Given the description of an element on the screen output the (x, y) to click on. 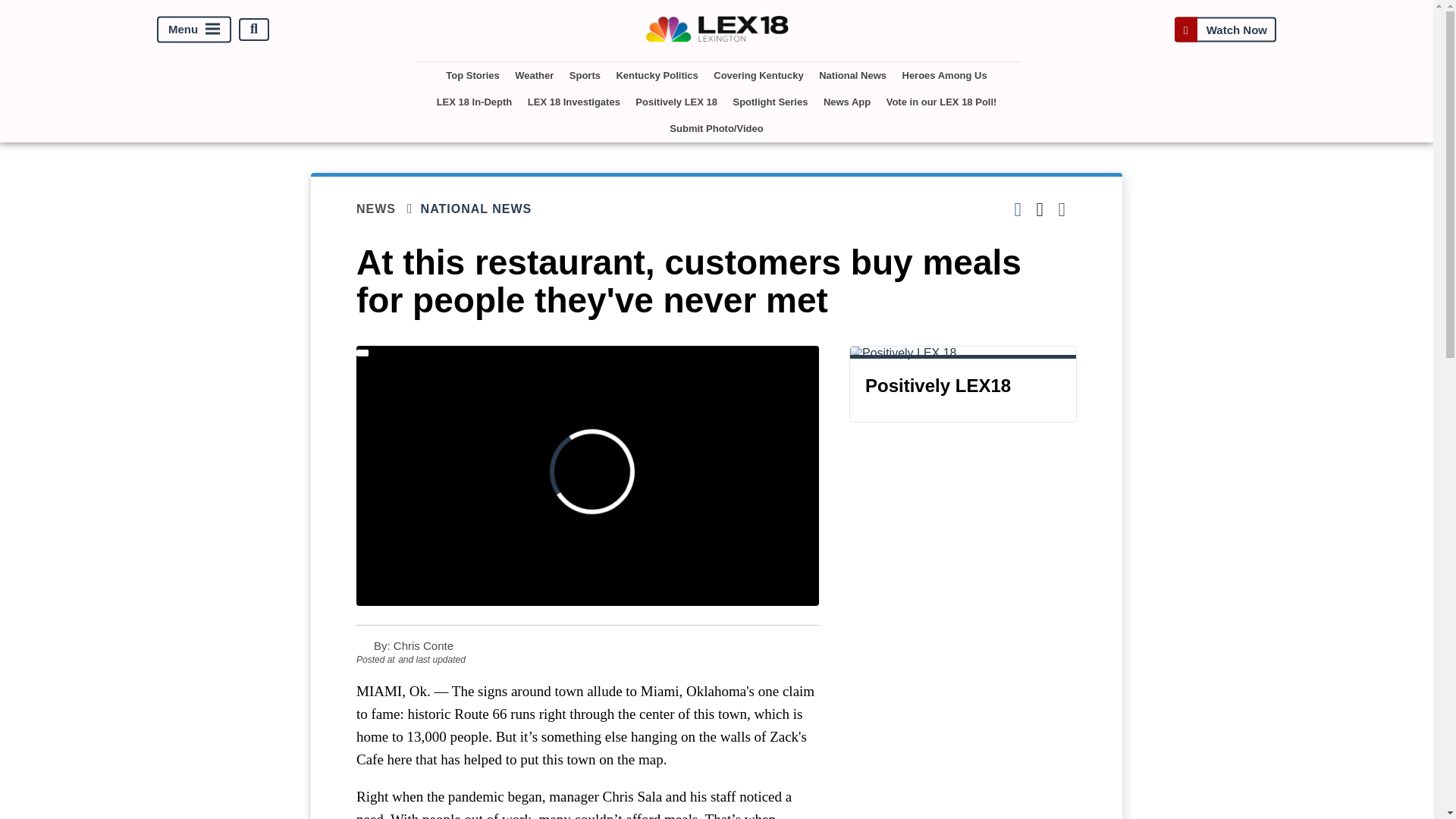
Watch Now (1224, 29)
Menu (194, 28)
